Given the description of an element on the screen output the (x, y) to click on. 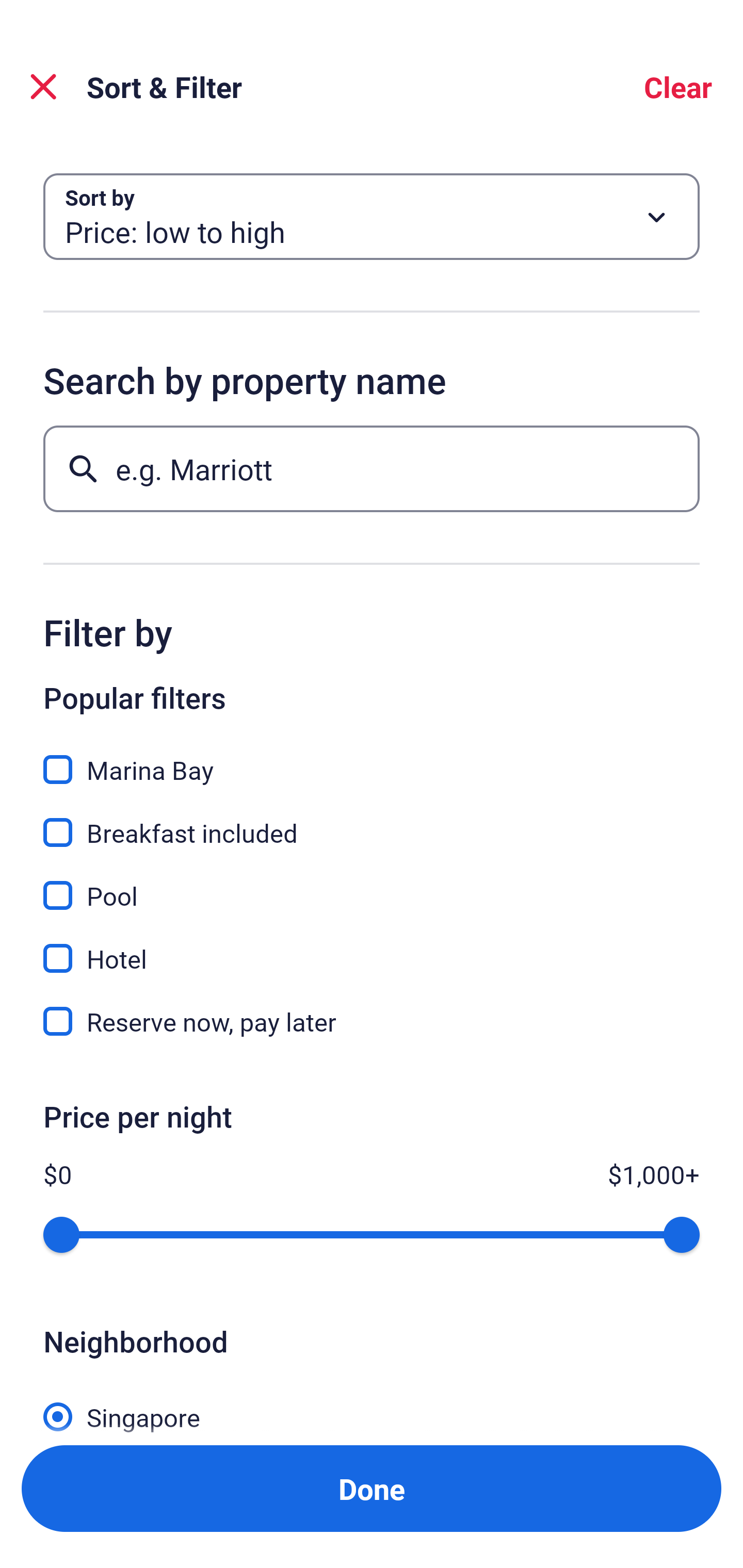
Close Sort and Filter (43, 86)
Clear (677, 86)
Sort by Button Price: low to high (371, 217)
e.g. Marriott Button (371, 468)
Marina Bay, Marina Bay (371, 757)
Breakfast included, Breakfast included (371, 821)
Pool, Pool (371, 883)
Hotel, Hotel (371, 946)
Reserve now, pay later, Reserve now, pay later (371, 1021)
Apply and close Sort and Filter Done (371, 1488)
